Given the description of an element on the screen output the (x, y) to click on. 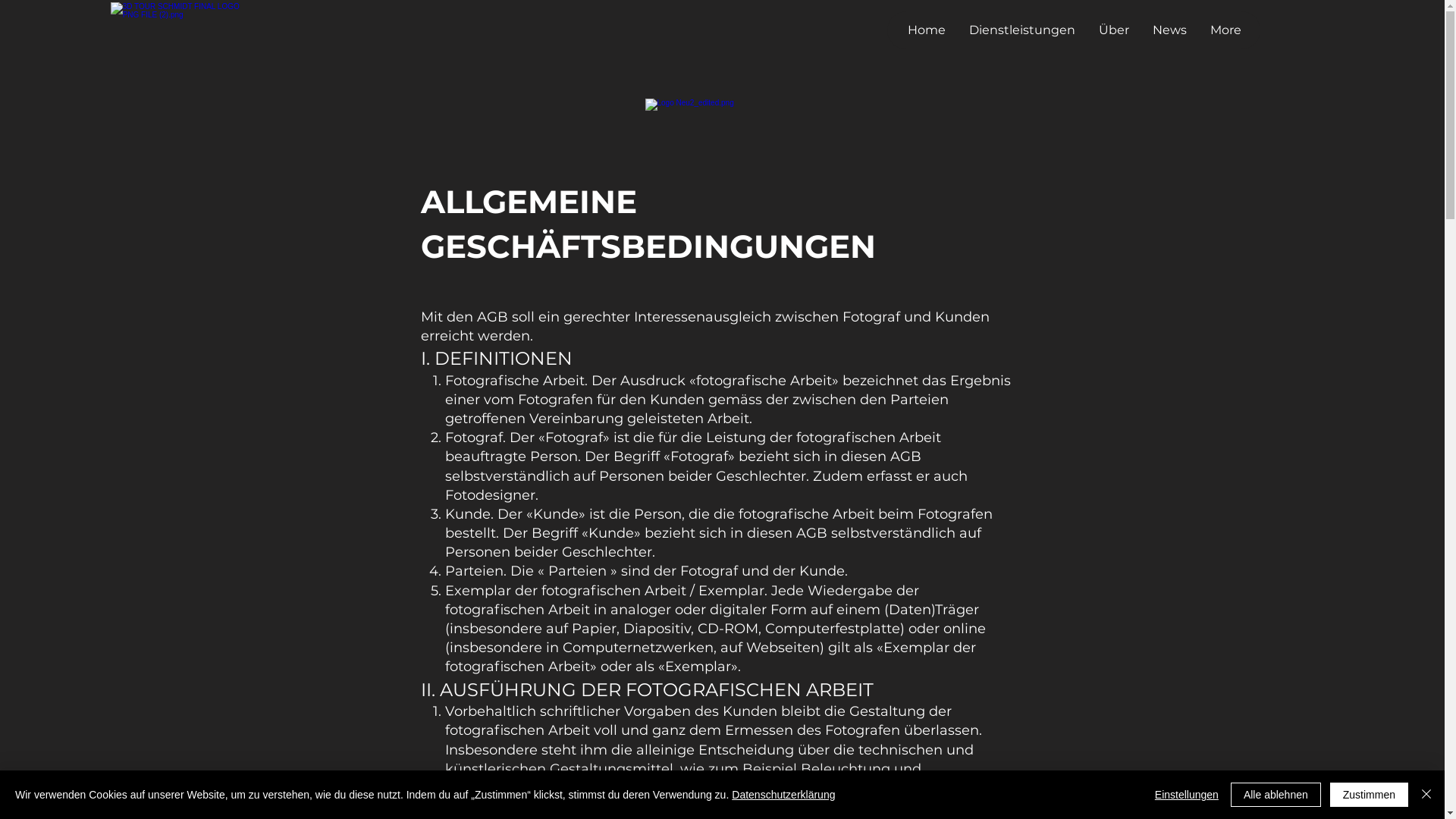
Dienstleistungen Element type: text (1021, 30)
News Element type: text (1169, 30)
Zustimmen Element type: text (1369, 794)
Home Element type: text (925, 30)
Alle ablehnen Element type: text (1275, 794)
